Given the description of an element on the screen output the (x, y) to click on. 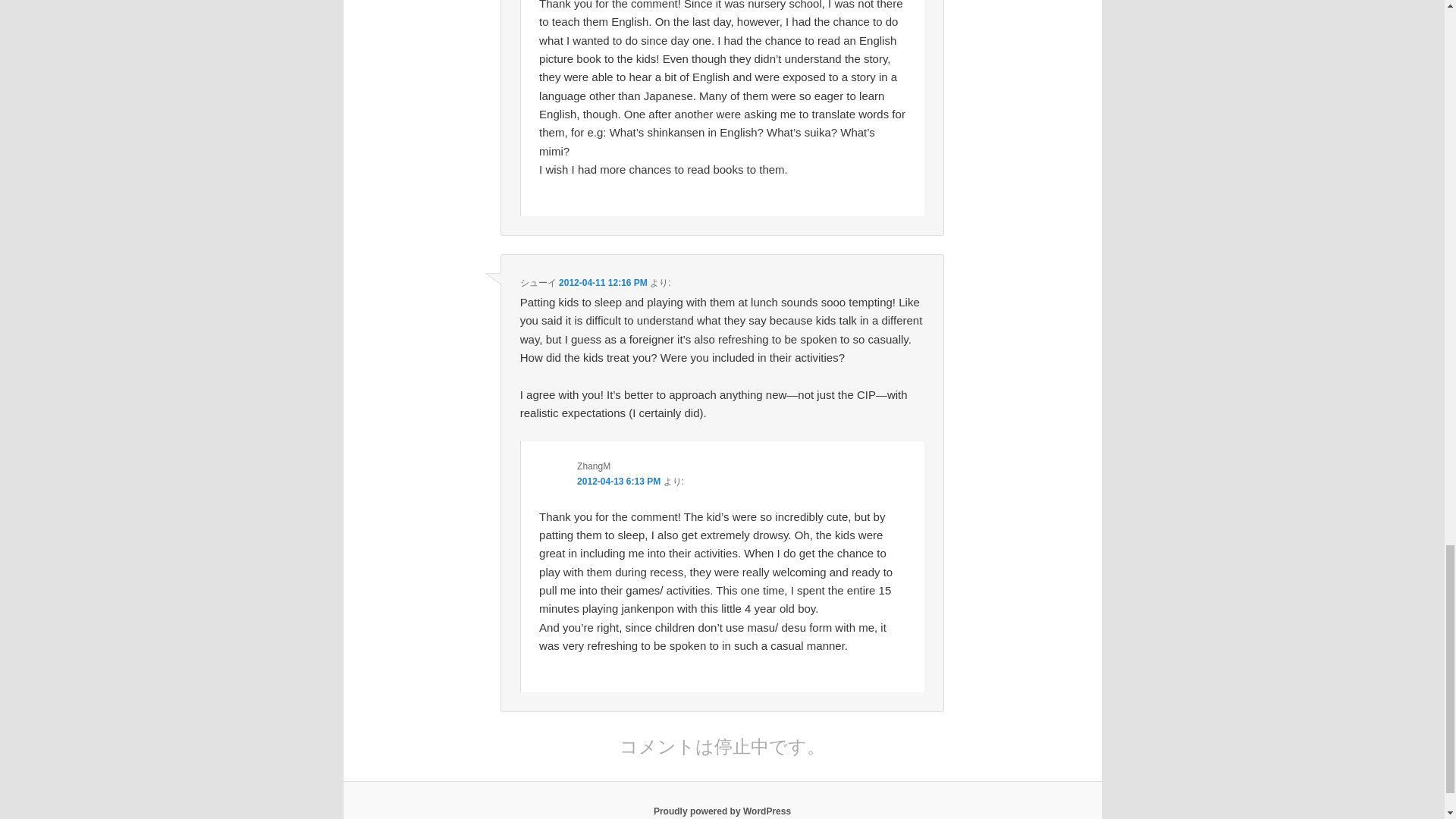
2012-04-13 6:13 PM (618, 480)
Proudly powered by WordPress (721, 810)
2012-04-11 12:16 PM (603, 282)
